Given the description of an element on the screen output the (x, y) to click on. 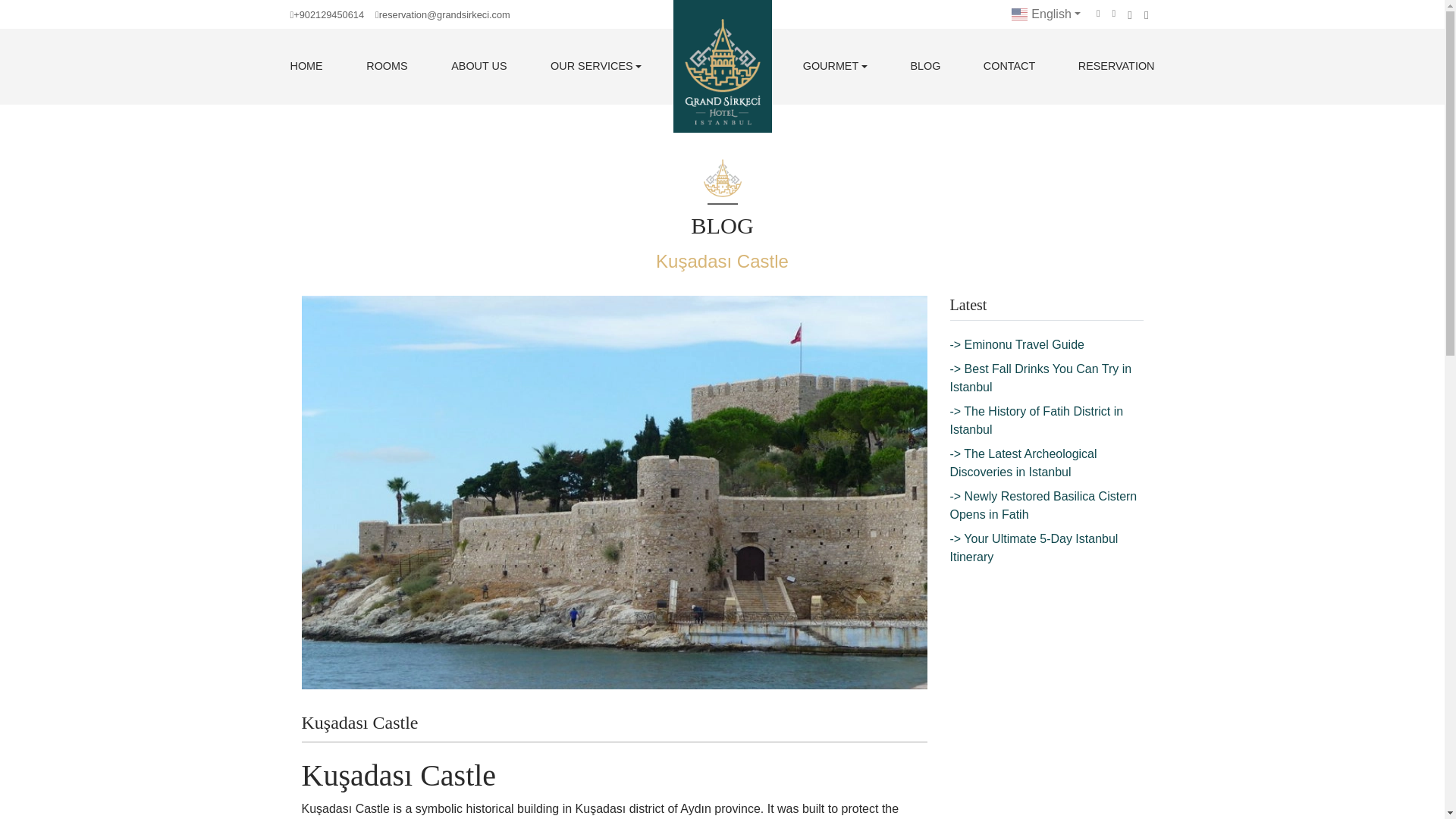
RESERVATION (1116, 66)
English (1045, 14)
OUR SERVICES (596, 66)
